Given the description of an element on the screen output the (x, y) to click on. 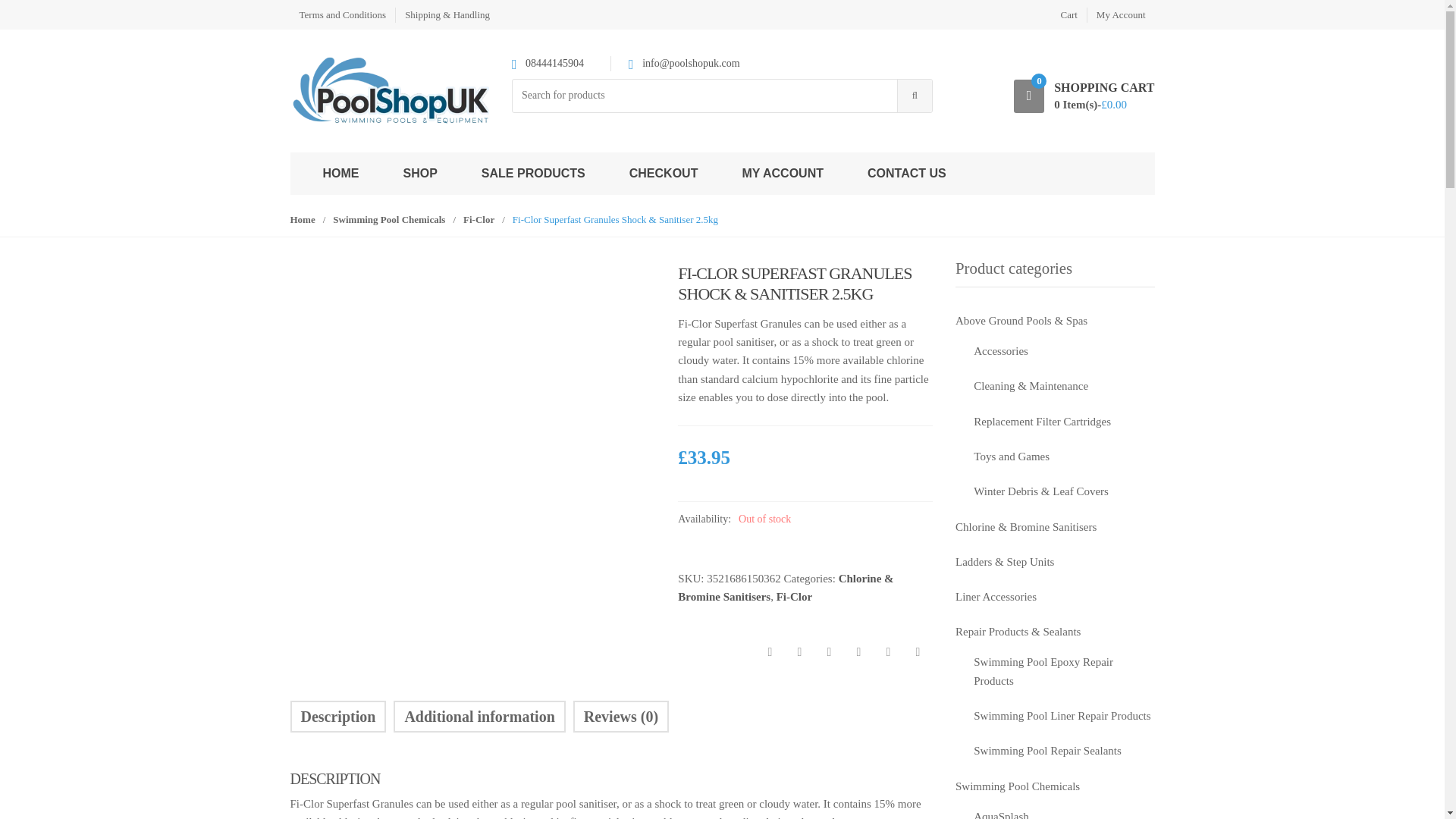
MY ACCOUNT (782, 173)
Additional information (478, 716)
CONTACT US (906, 173)
My Account (1120, 14)
My Account (1120, 14)
Fi-Clor (794, 596)
Description (337, 716)
Terms and Conditions (341, 14)
Swimming Pool Chemicals (389, 219)
Sale Products (533, 173)
